Given the description of an element on the screen output the (x, y) to click on. 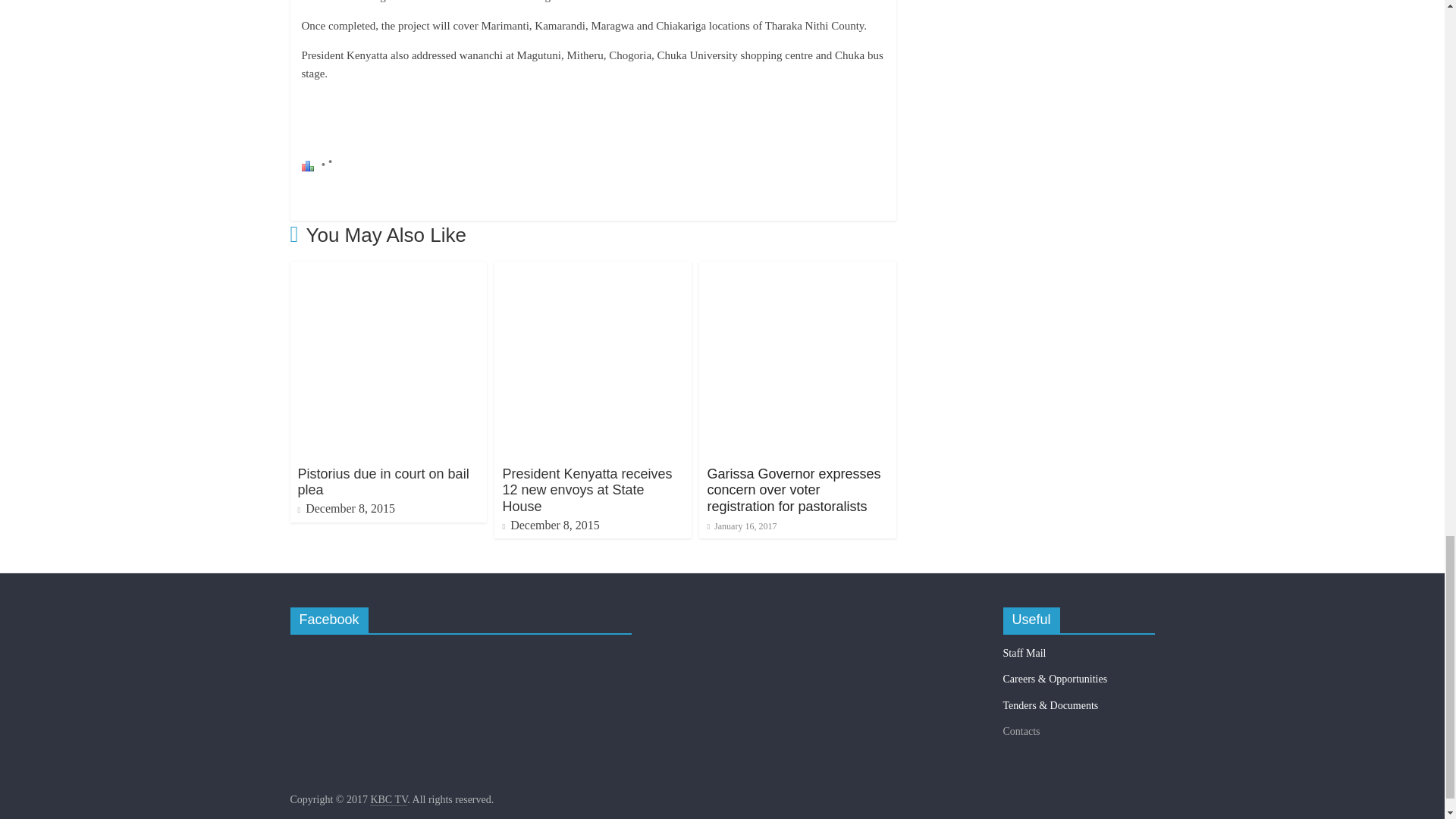
12:00 pm (741, 525)
KBC TV (388, 799)
